Given the description of an element on the screen output the (x, y) to click on. 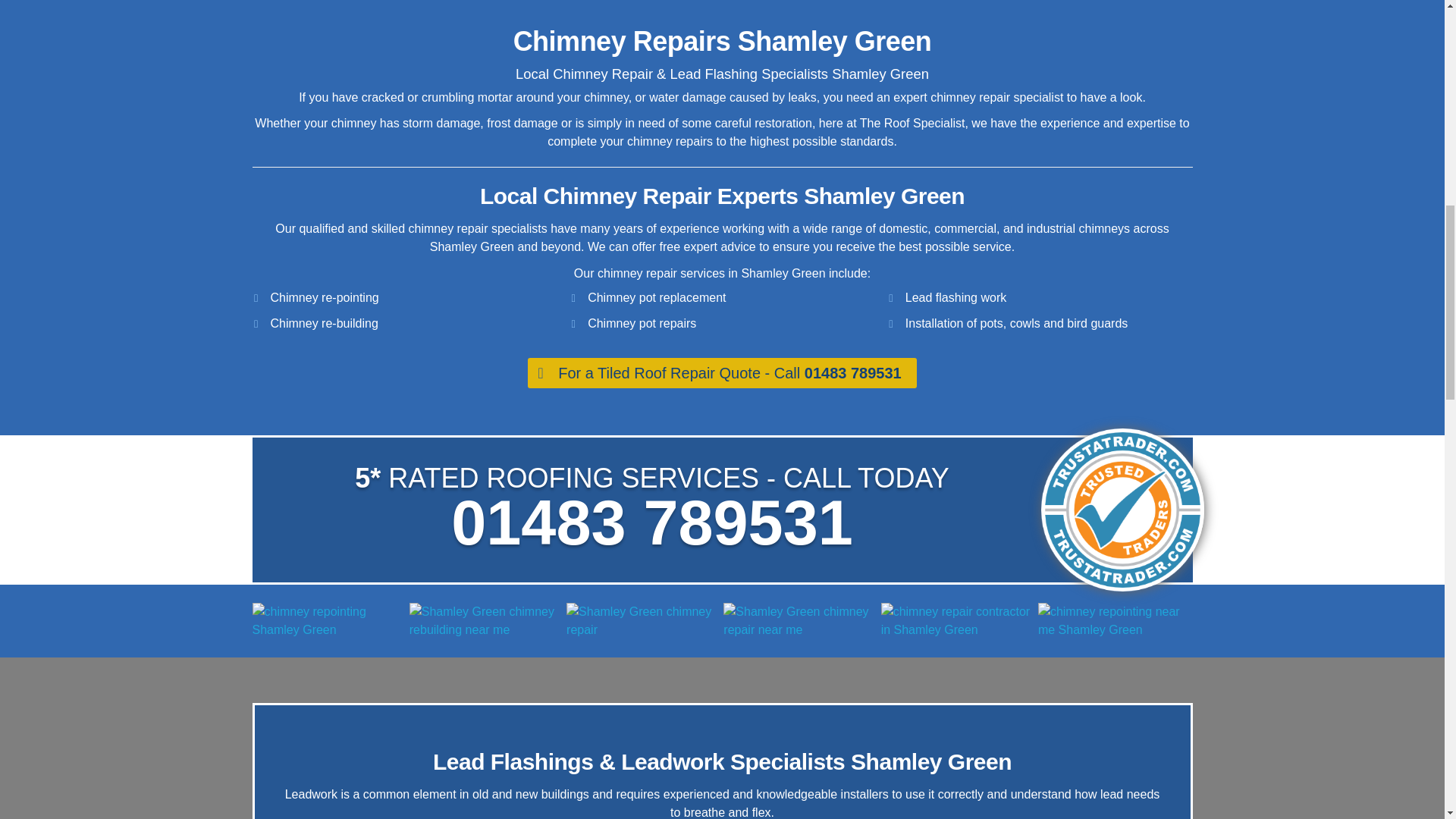
For a Tiled Roof Repair Quote - Call 01483 789531 (722, 372)
